Given the description of an element on the screen output the (x, y) to click on. 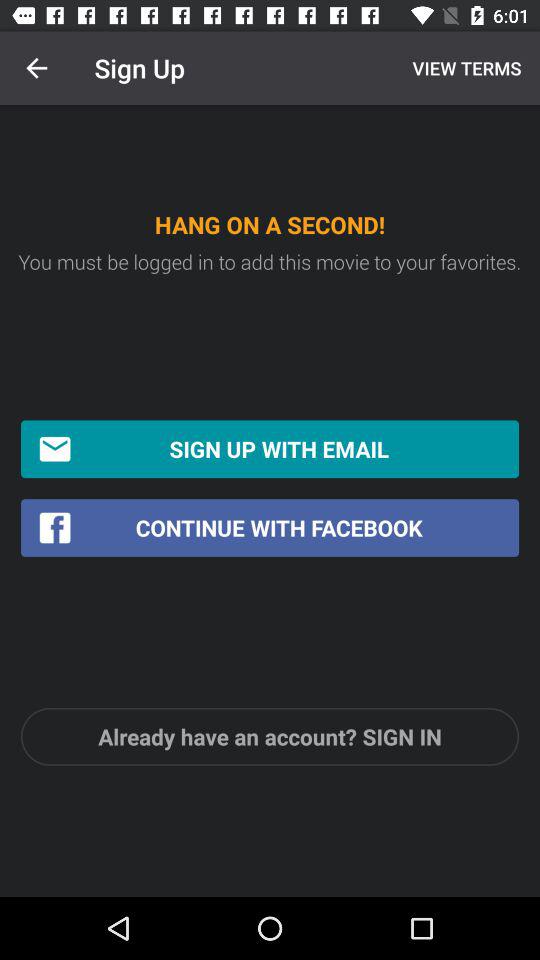
press item next to sign up icon (464, 67)
